Given the description of an element on the screen output the (x, y) to click on. 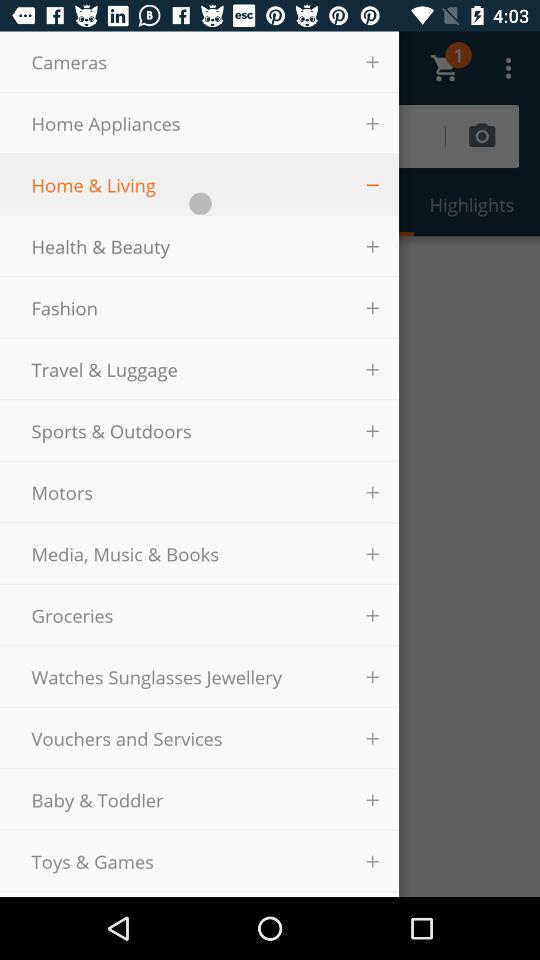
click the  button (373, 184)
